Given the description of an element on the screen output the (x, y) to click on. 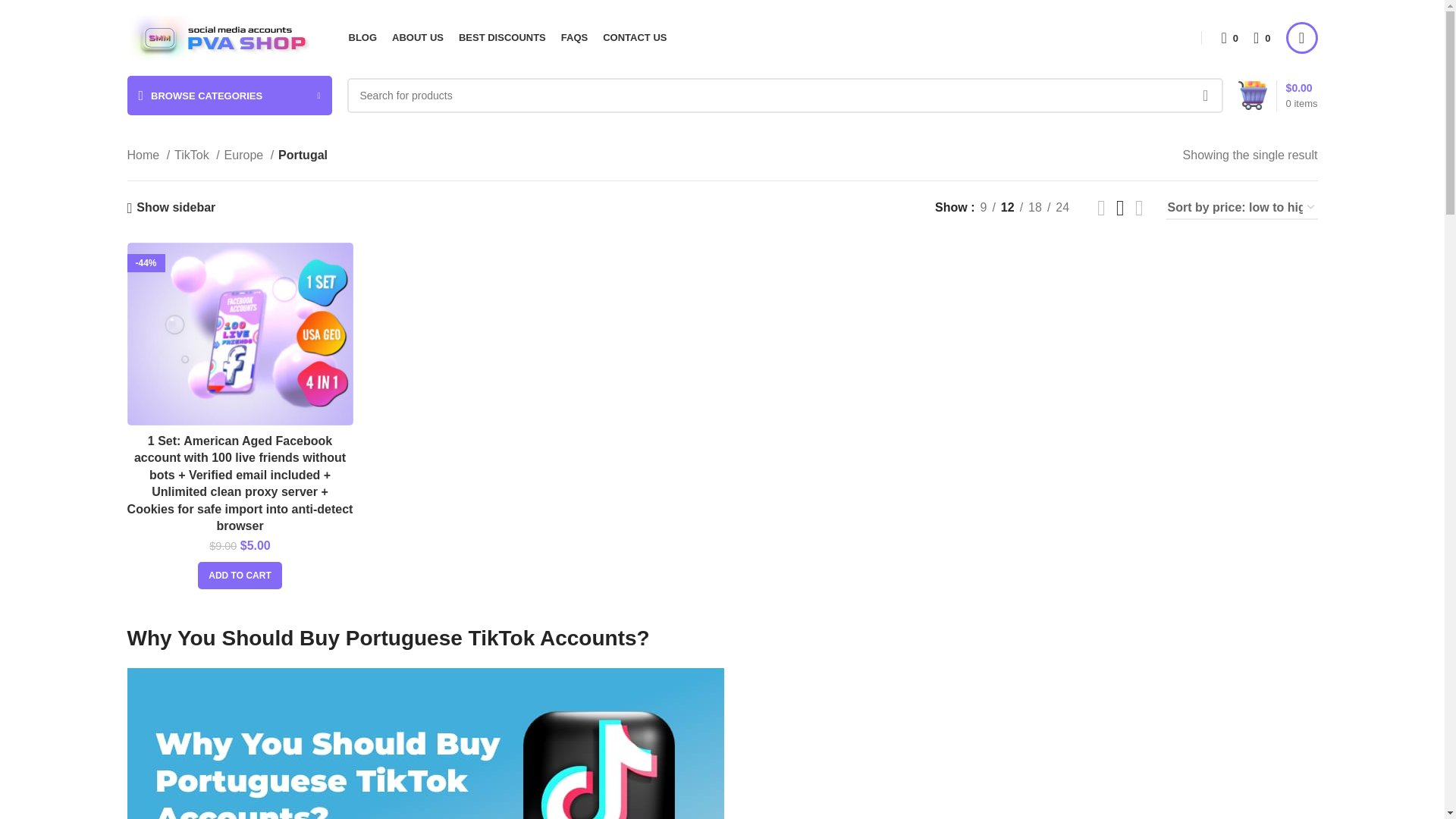
Search for products (785, 95)
Shopping cart (1277, 95)
BEST DISCOUNTS (502, 37)
0 (1229, 37)
My account (1301, 37)
My Wishlist (1262, 37)
Log in (1192, 286)
BLOG (363, 37)
ABOUT US (417, 37)
CONTACT US (634, 37)
Compare products (1229, 37)
0 (1262, 37)
